Given the description of an element on the screen output the (x, y) to click on. 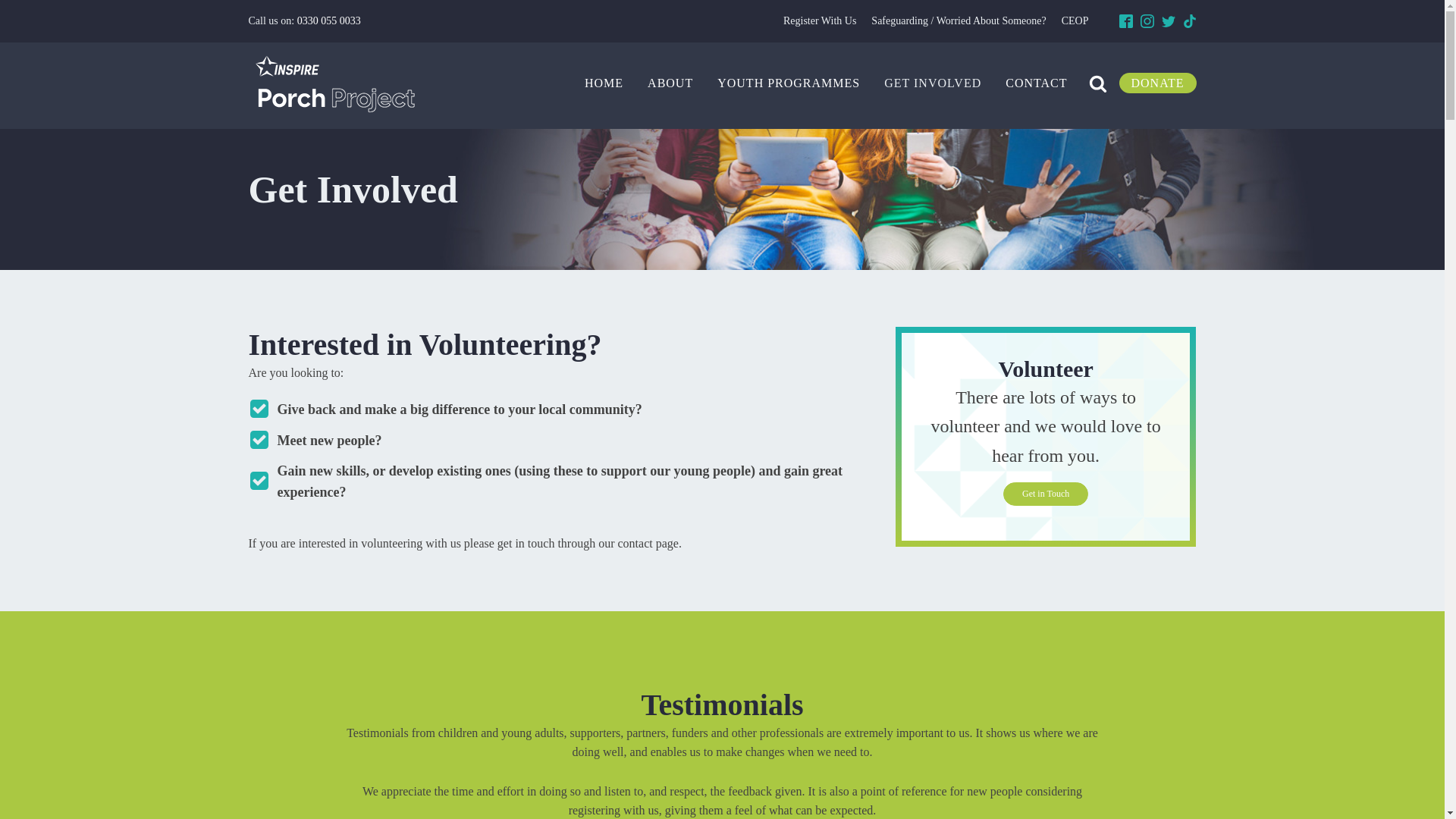
HOME (603, 83)
DONATE (1157, 83)
ABOUT (669, 83)
GET INVOLVED (932, 83)
YOUTH PROGRAMMES (788, 83)
CONTACT (1035, 83)
Register With Us (819, 21)
Search (25, 9)
CEOP (1075, 21)
